Given the description of an element on the screen output the (x, y) to click on. 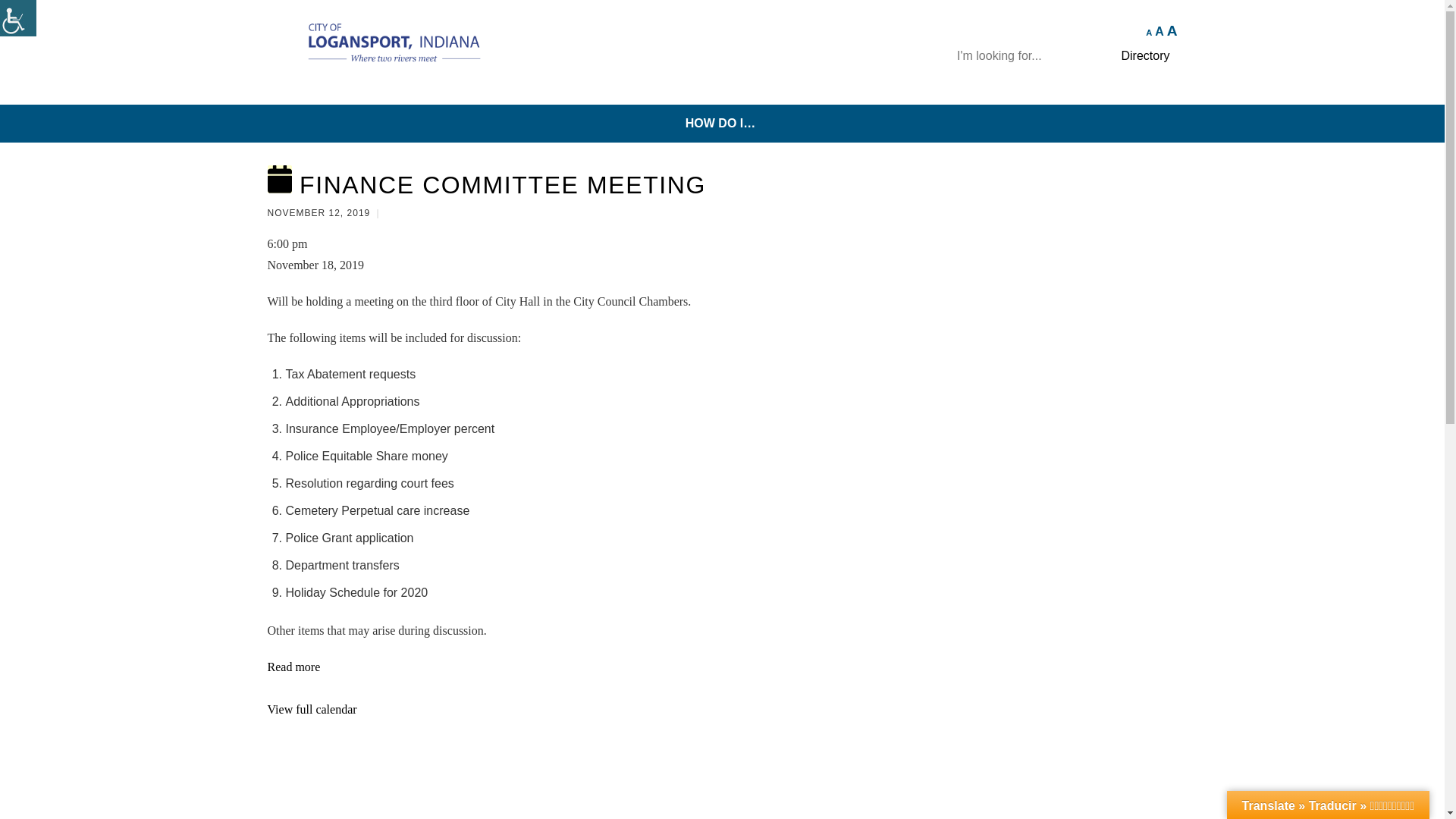
Accessibility Helper sidebar (18, 18)
Logansport (380, 44)
Logansport (380, 59)
Directory (1145, 55)
DEPARTMENTS (381, 98)
